Given the description of an element on the screen output the (x, y) to click on. 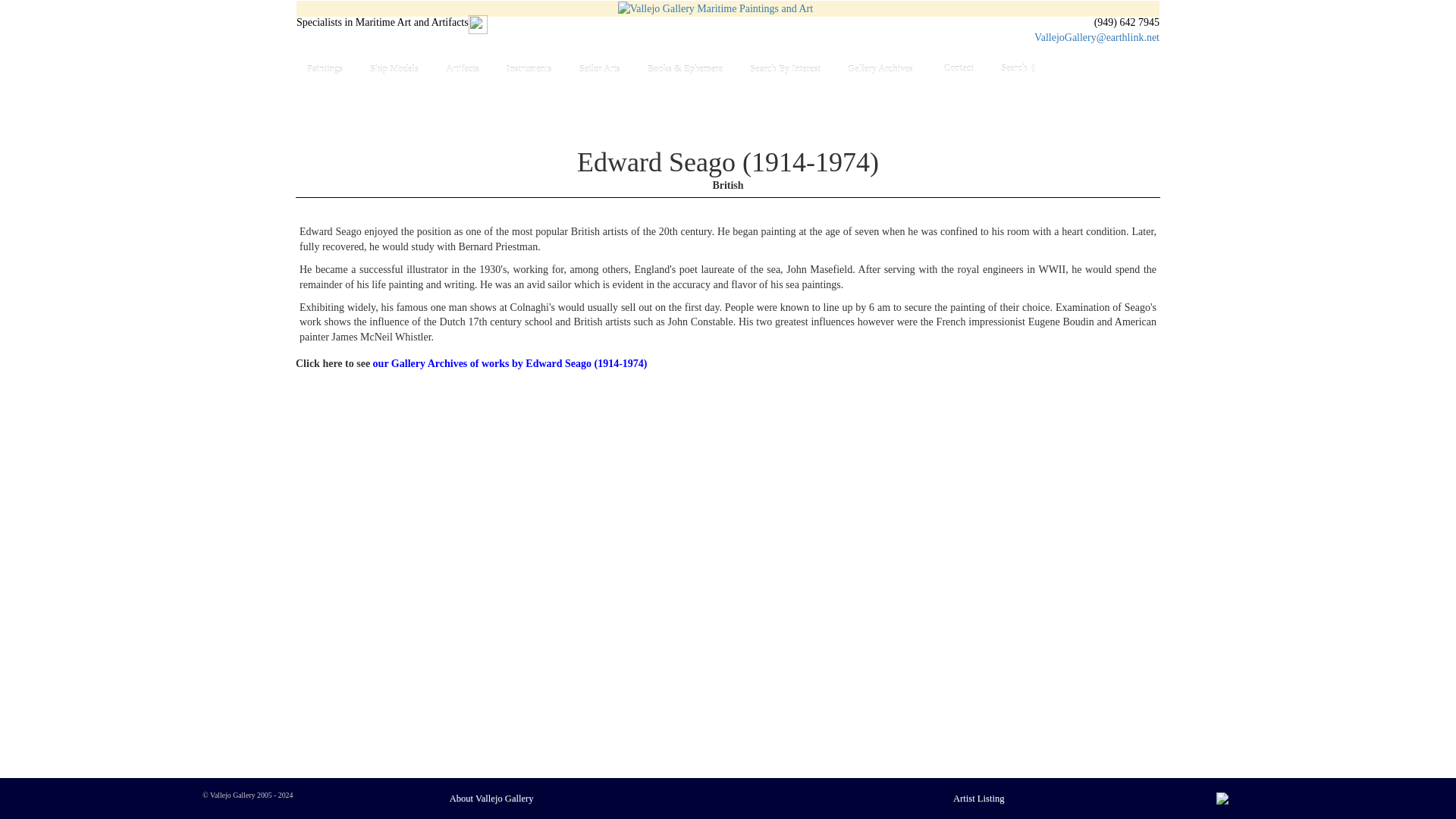
Paintings (328, 68)
Artifacts (465, 68)
Ship Models (397, 68)
